Given the description of an element on the screen output the (x, y) to click on. 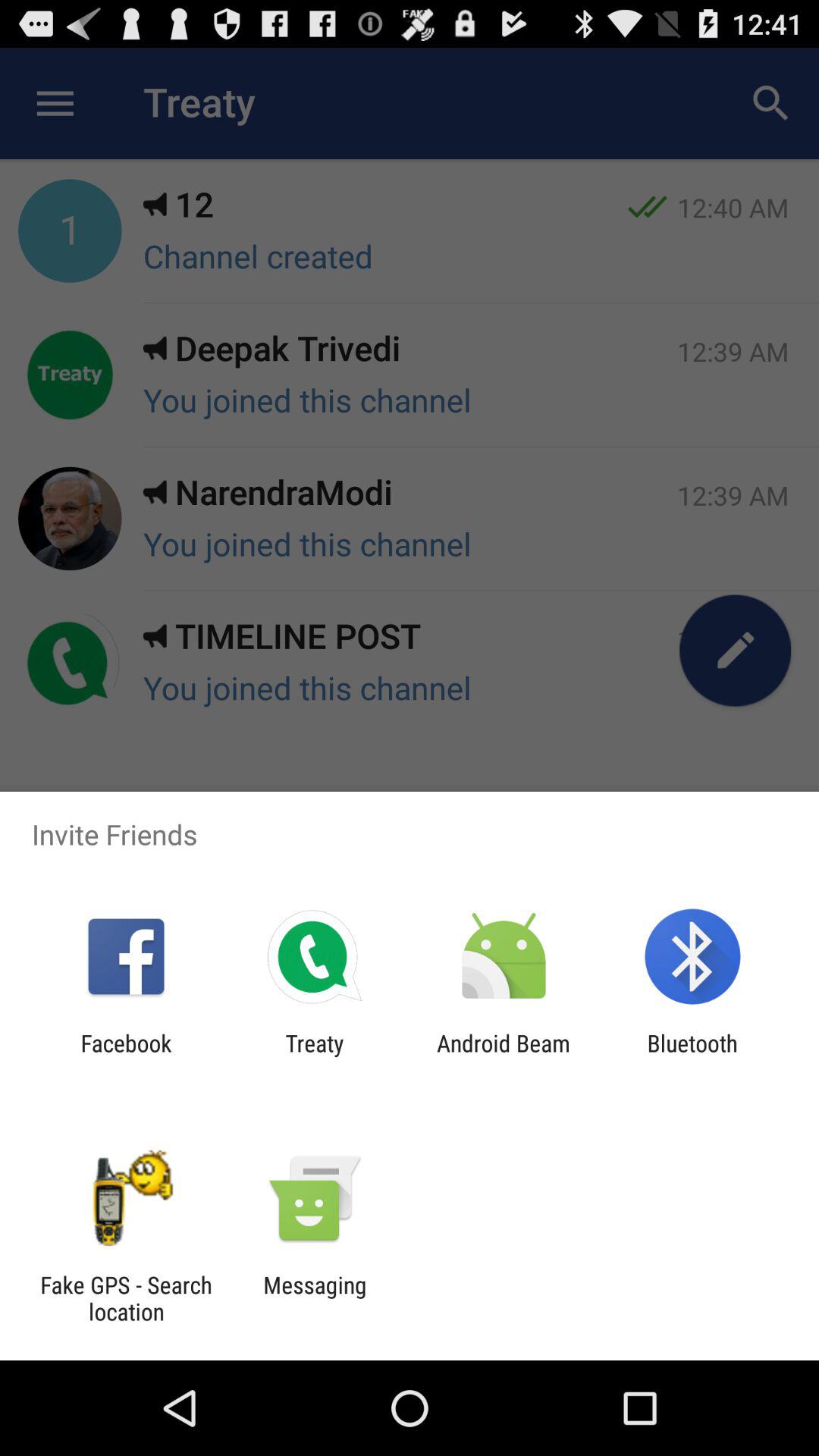
turn off bluetooth app (692, 1056)
